Given the description of an element on the screen output the (x, y) to click on. 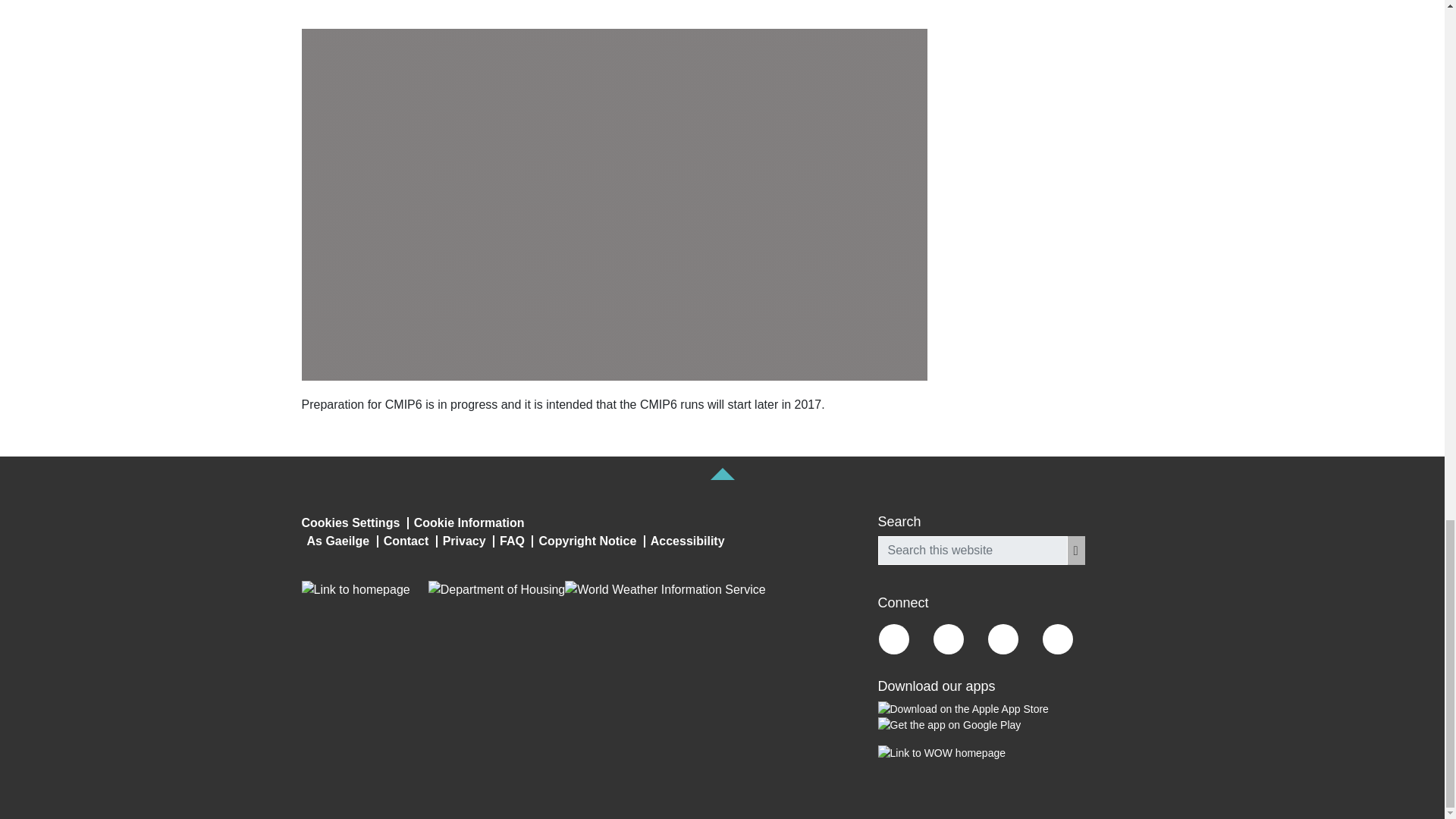
Link to homepage (355, 589)
Link to WOW homepage (941, 753)
Back to top (721, 473)
